Given the description of an element on the screen output the (x, y) to click on. 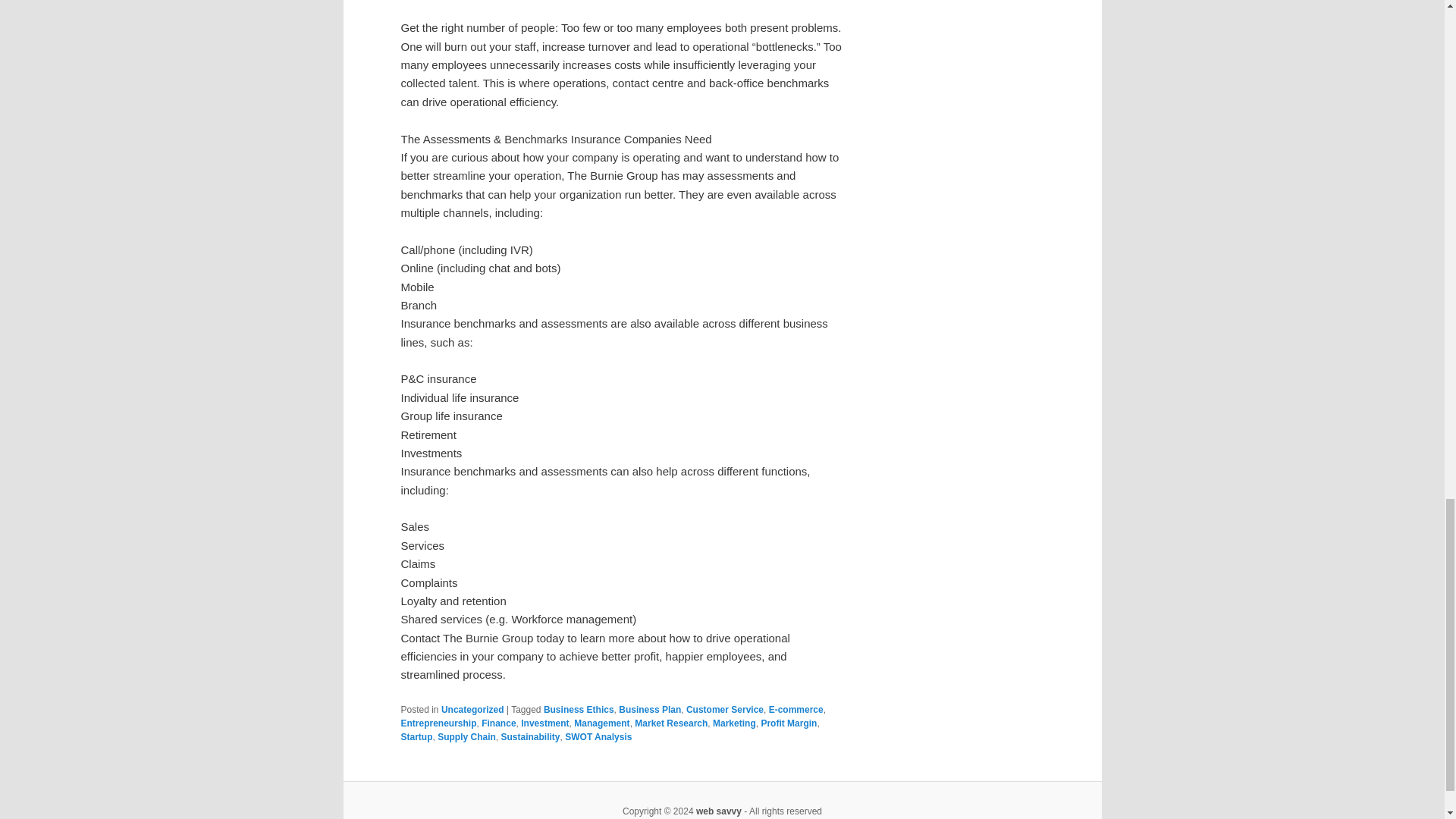
web savvy (718, 810)
Entrepreneurship (438, 723)
Sustainability (530, 737)
Marketing (734, 723)
View all posts in Uncategorized (472, 709)
E-commerce (796, 709)
Investment (545, 723)
Business Ethics (578, 709)
Management (600, 723)
Profit Margin (788, 723)
